Given the description of an element on the screen output the (x, y) to click on. 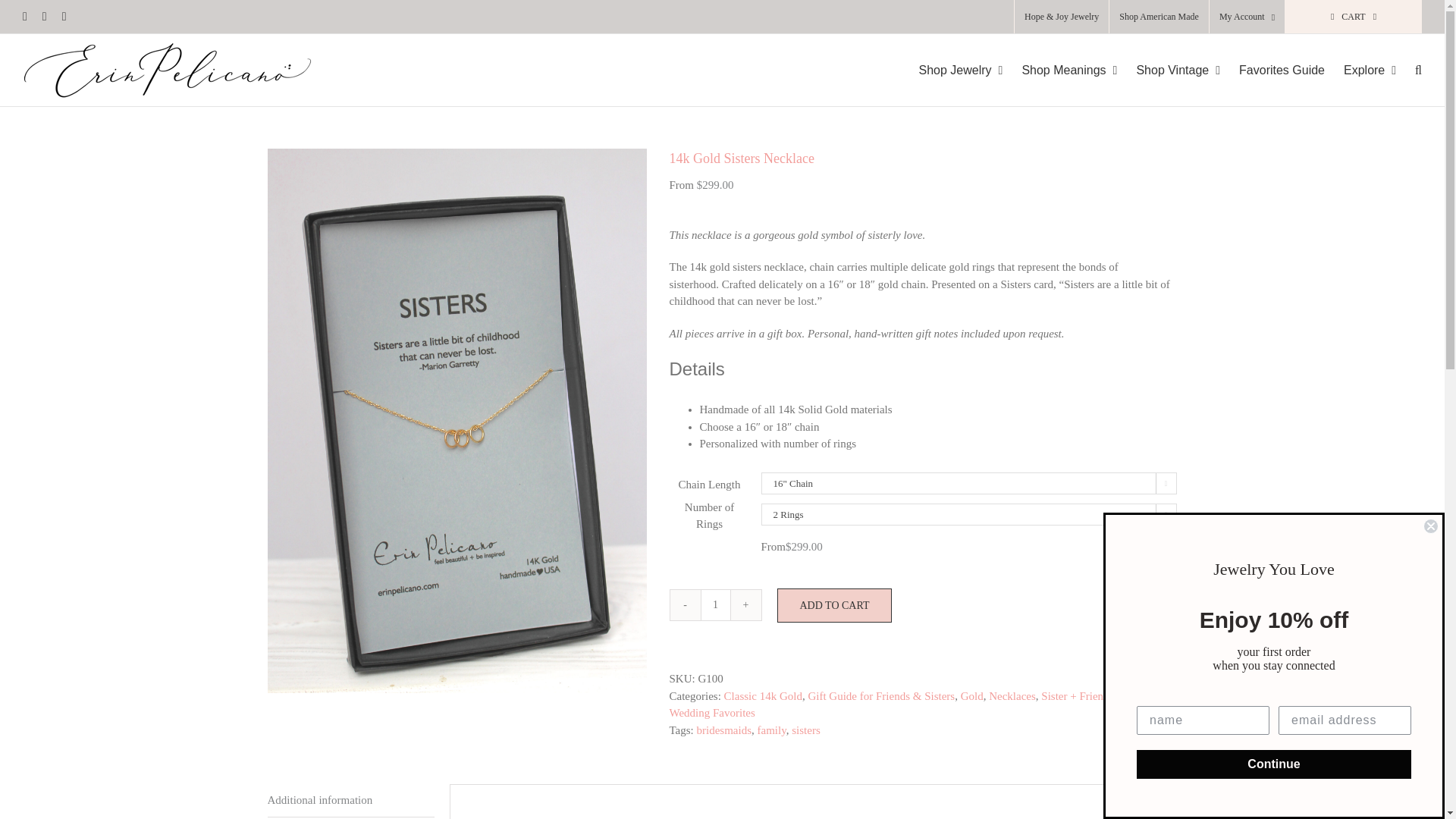
Shop Meanings (1069, 70)
- (684, 604)
Log In (1299, 145)
Pinterest (64, 16)
CART (1353, 16)
1 (715, 604)
Shop American Made (1158, 16)
Instagram (44, 16)
Facebook (25, 16)
My Account (1246, 16)
Search (1418, 70)
Close dialog 1 (1430, 525)
Shop Jewelry (960, 70)
